Given the description of an element on the screen output the (x, y) to click on. 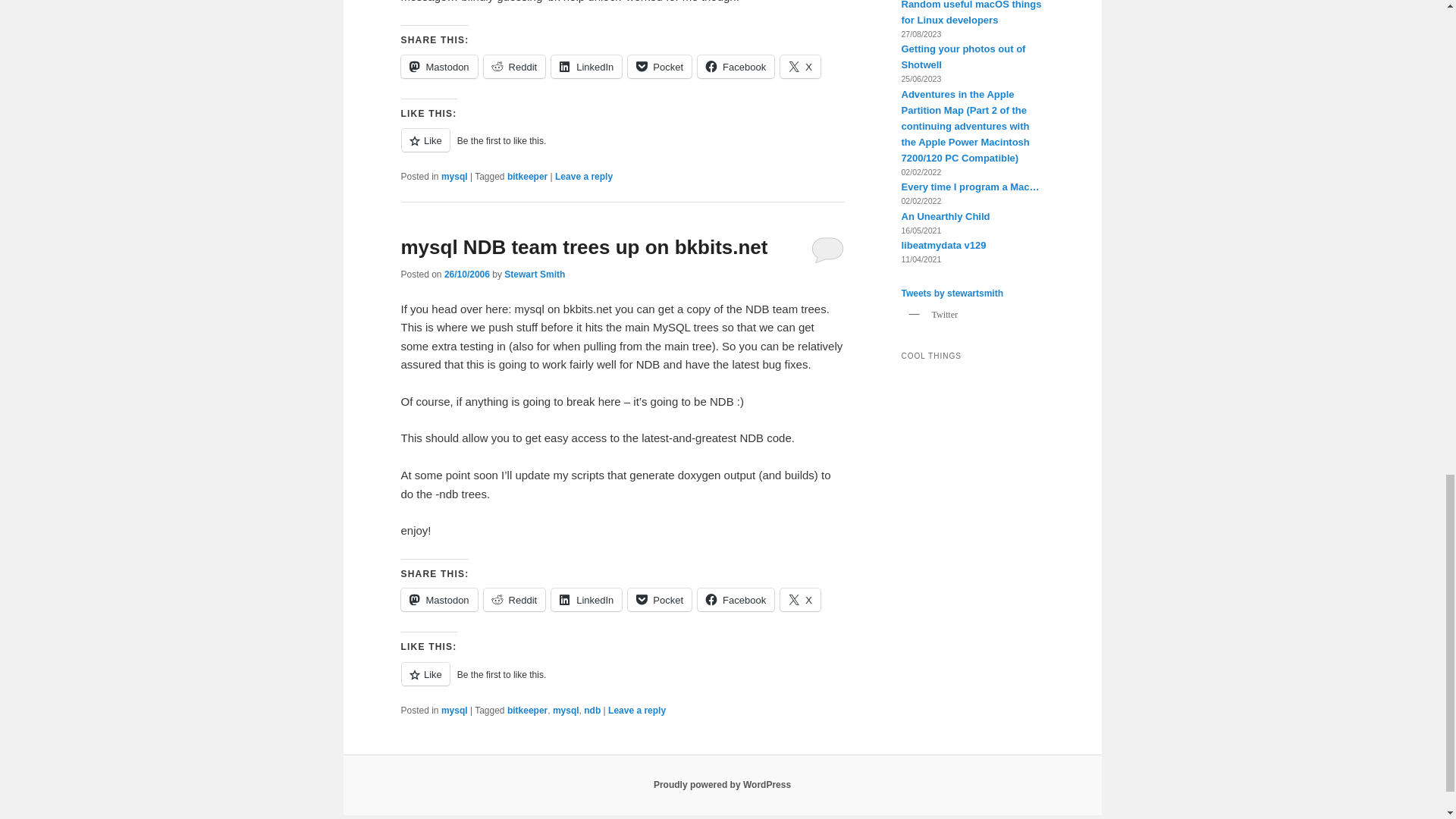
Click to share on Reddit (514, 66)
LinkedIn (586, 66)
Click to share on Pocket (659, 66)
Click to share on LinkedIn (586, 66)
mysql (454, 176)
Mastodon (438, 66)
Facebook (735, 66)
Click to share on Mastodon (438, 66)
X (800, 66)
Reddit (514, 66)
Pocket (659, 66)
